Given the description of an element on the screen output the (x, y) to click on. 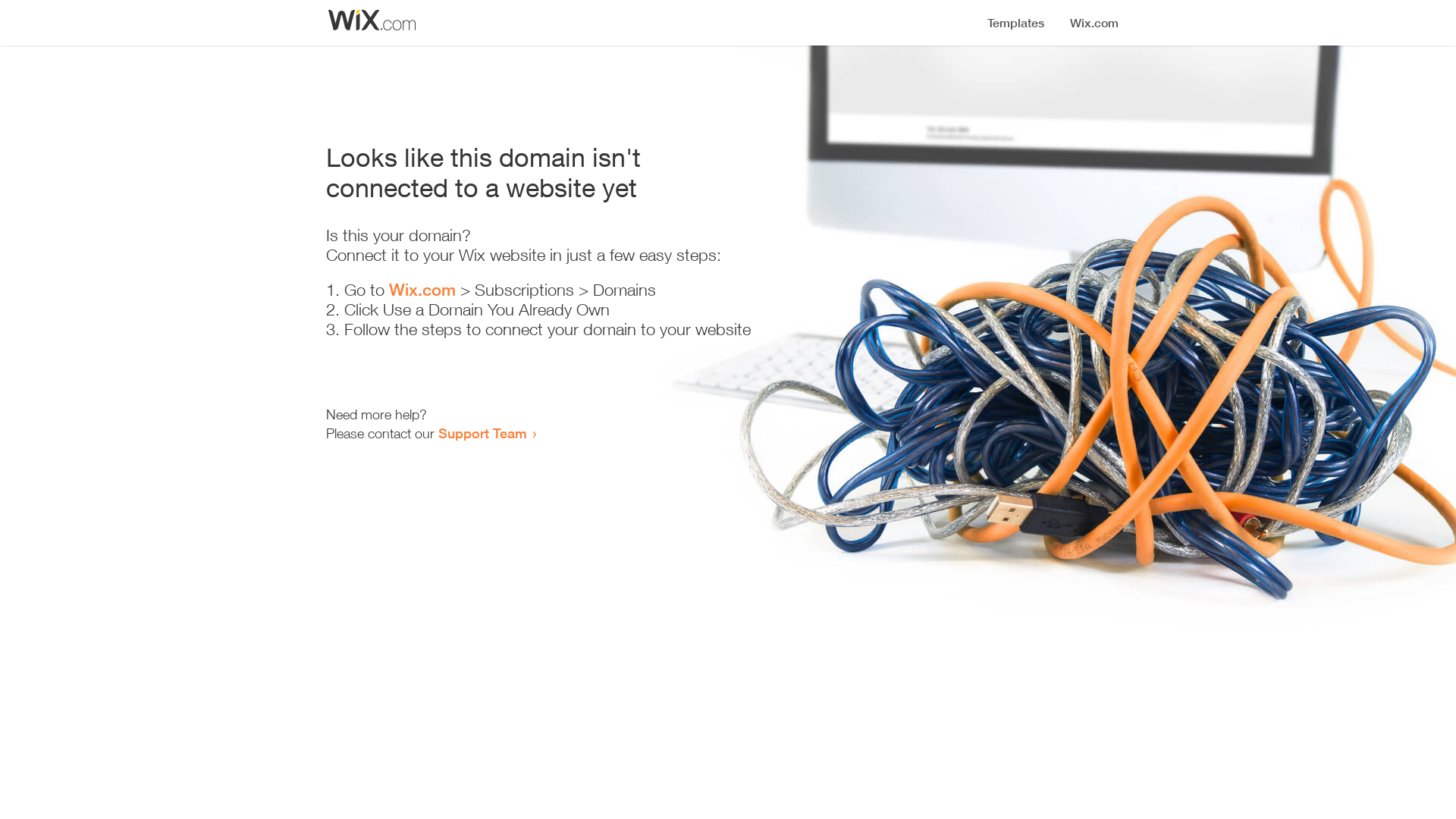
Wix.com Element type: text (422, 289)
Support Team Element type: text (482, 432)
